Given the description of an element on the screen output the (x, y) to click on. 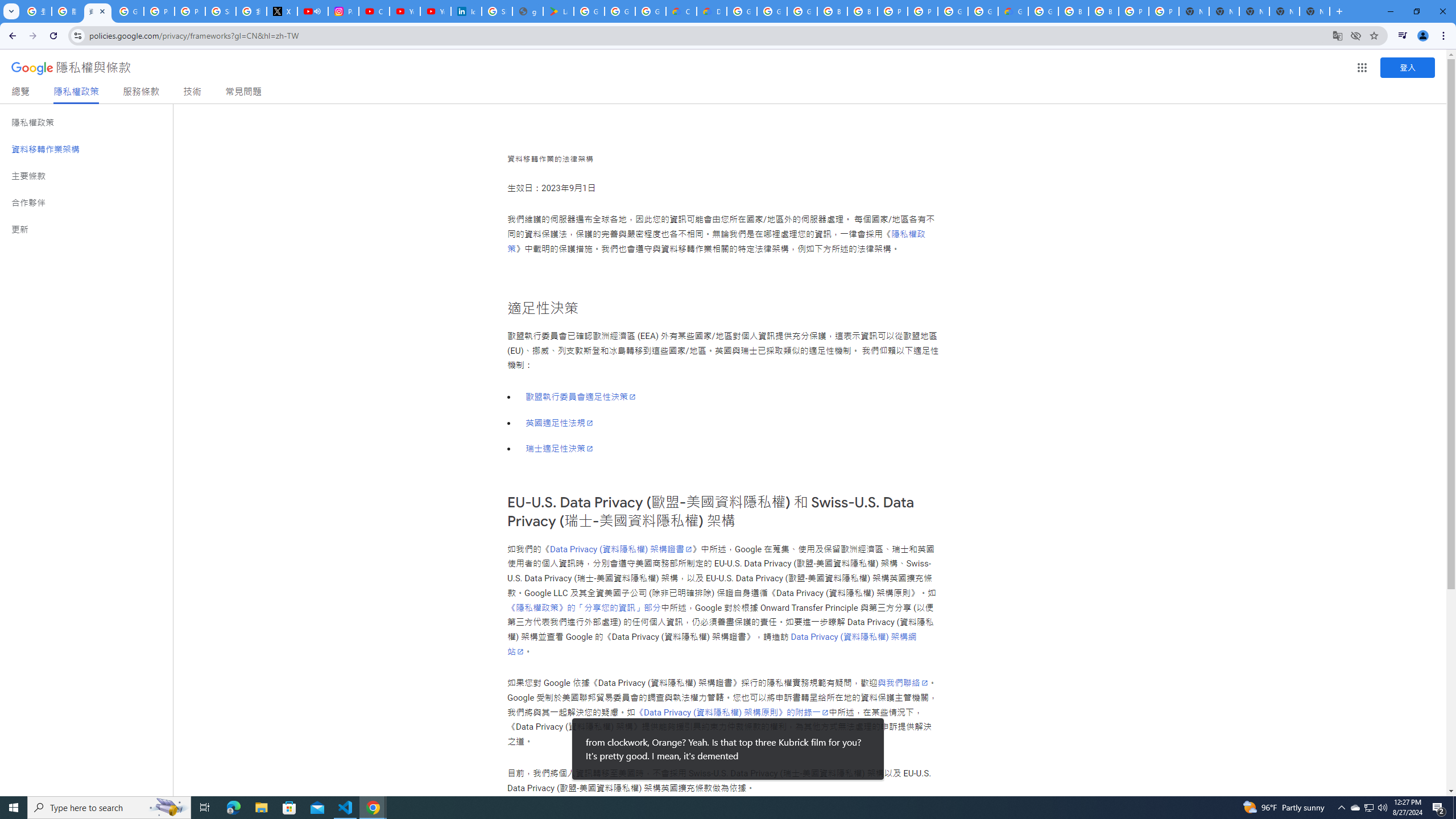
Browse Chrome as a guest - Computer - Google Chrome Help (1072, 11)
X (282, 11)
Translate this page (1336, 35)
Sign in - Google Accounts (220, 11)
Privacy Help Center - Policies Help (158, 11)
New Tab (1314, 11)
